Given the description of an element on the screen output the (x, y) to click on. 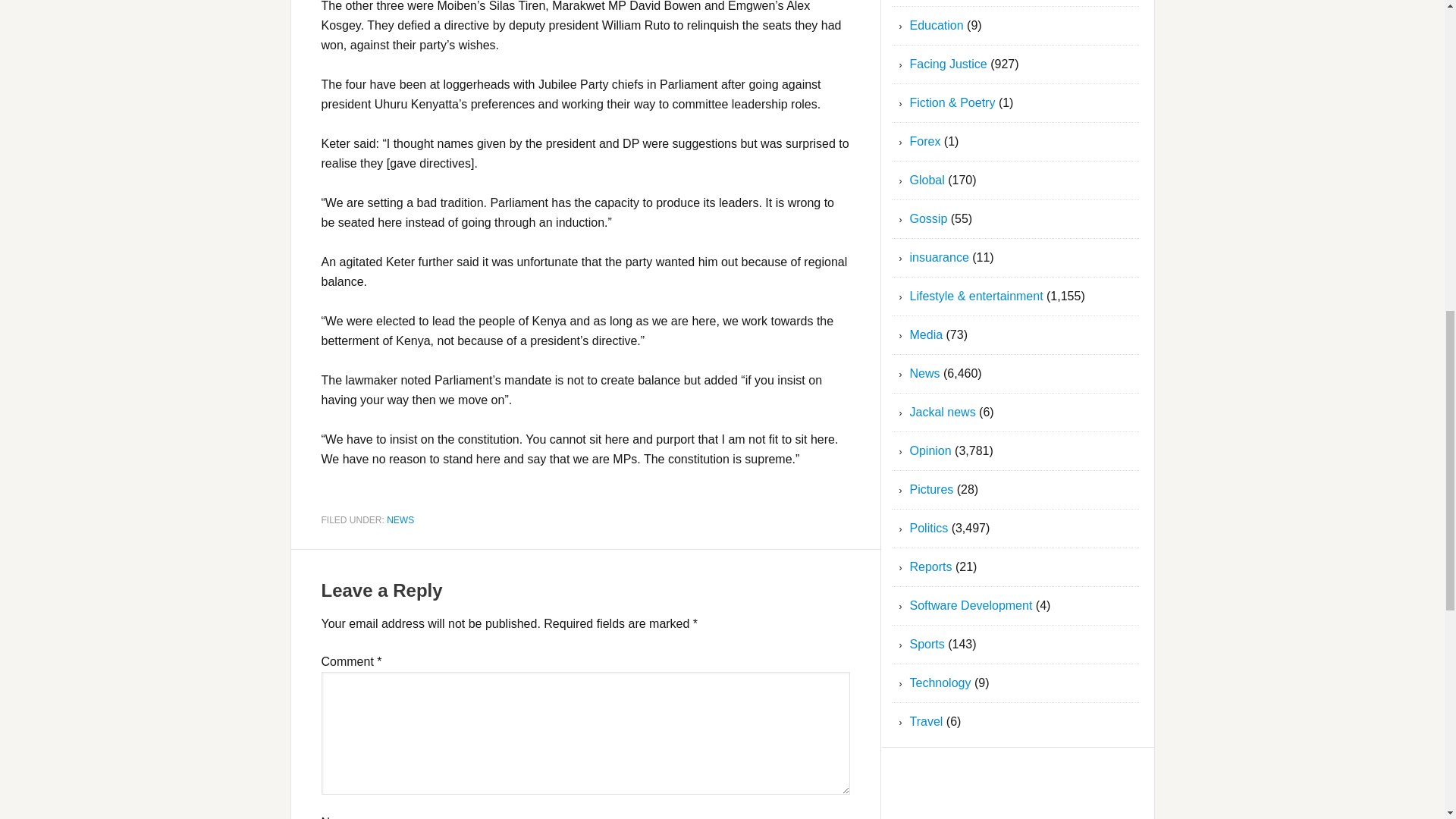
Jackal news (942, 411)
Opinion (931, 450)
Education (936, 24)
Reports (931, 566)
Global (927, 179)
Gossip (928, 218)
Facing Justice (948, 63)
Forex (925, 141)
insuarance (939, 256)
News (925, 373)
